Given the description of an element on the screen output the (x, y) to click on. 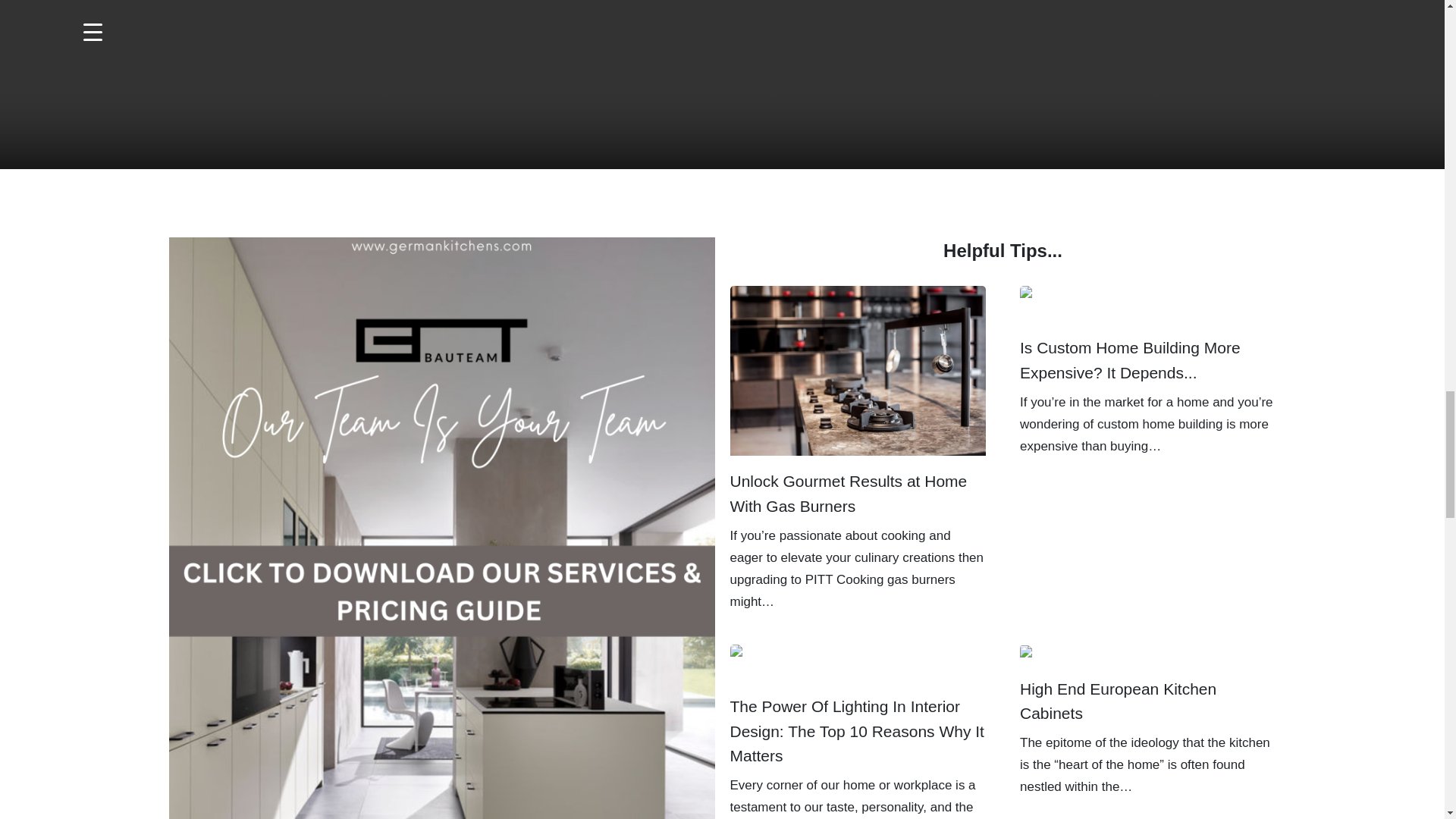
Is Custom Home Building More Expensive? It Depends... (1148, 303)
High End European Kitchen Cabinets (1126, 653)
Unlock Gourmet Results at Home With Gas Burners (857, 370)
